Given the description of an element on the screen output the (x, y) to click on. 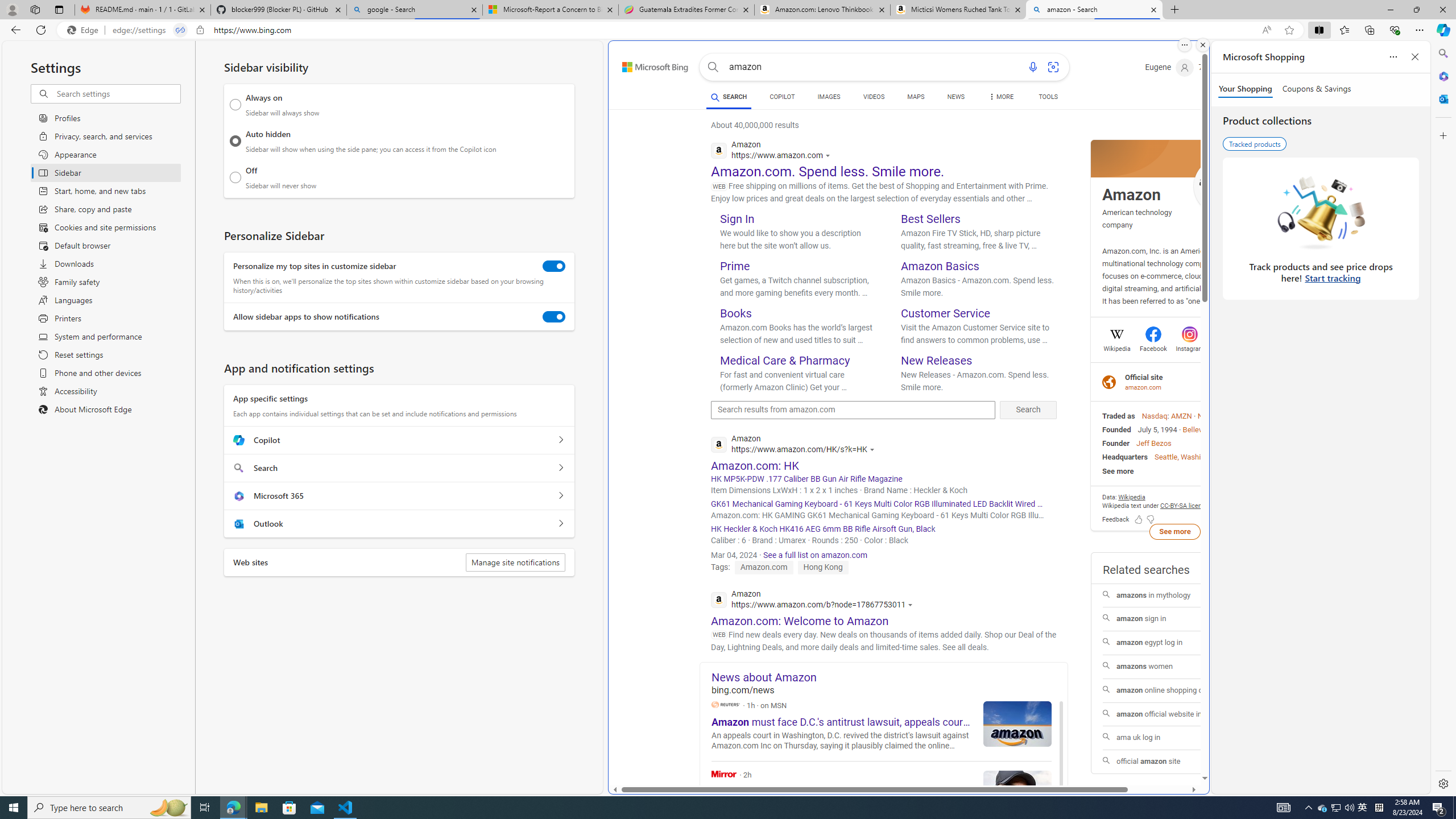
Search using an image (1052, 66)
Copilot (560, 439)
Headquarters (1124, 456)
amazons in mythology (1174, 595)
Manage site notifications (514, 562)
HK Heckler & Koch HK416 AEG 6mm BB Rifle Airsoft Gun, Black (883, 528)
amazons women (1174, 666)
Amazon.com: HK (754, 465)
amazon sign in (1174, 619)
Microsoft-Report a Concern to Bing (550, 9)
official amazon site (1174, 761)
Sign In (737, 218)
